Given the description of an element on the screen output the (x, y) to click on. 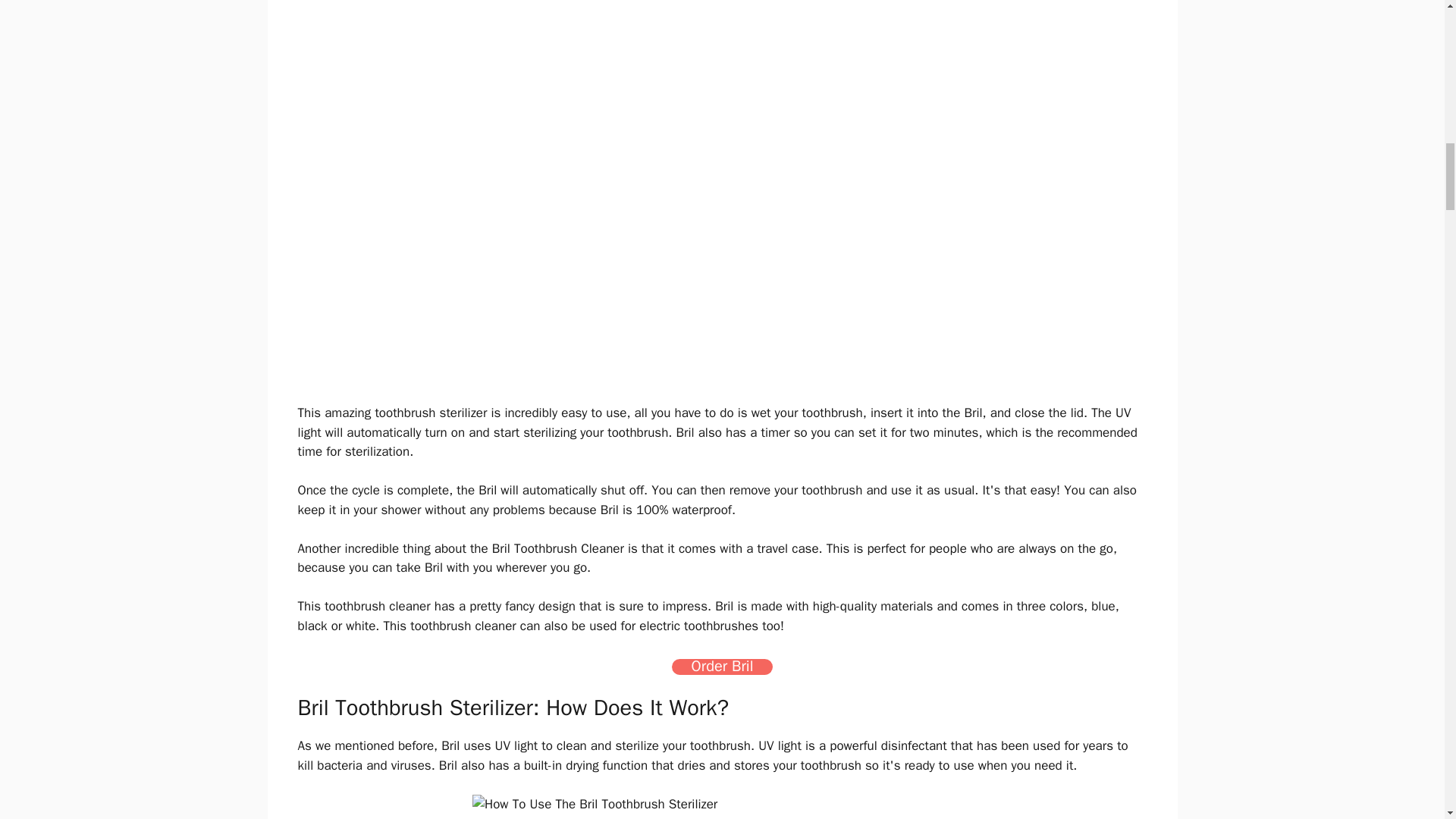
Order Bril (722, 666)
